Given the description of an element on the screen output the (x, y) to click on. 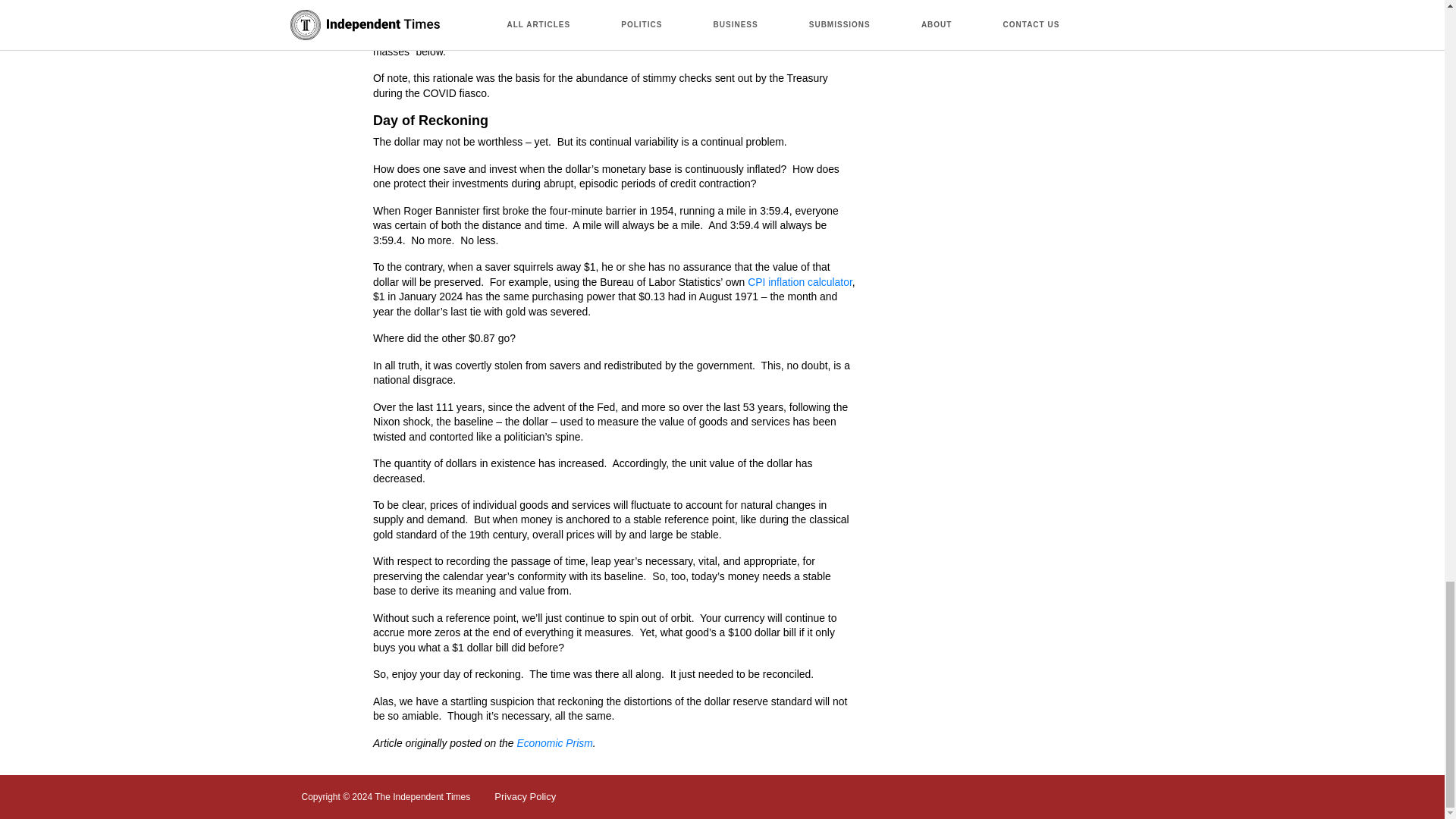
CPI inflation calculator (799, 282)
Privacy Policy (524, 796)
Economic Prism (554, 743)
